Given the description of an element on the screen output the (x, y) to click on. 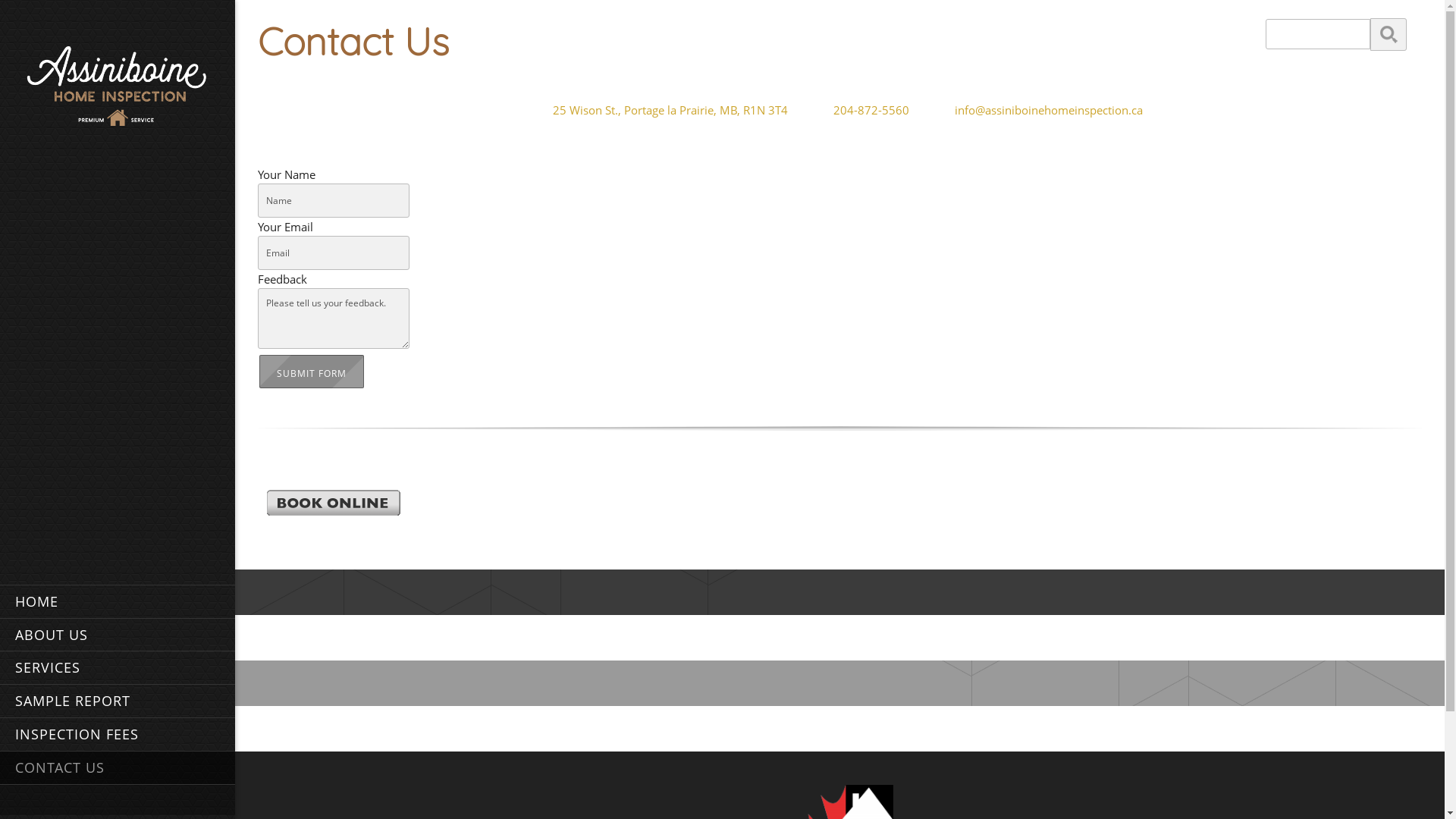
HOME Element type: text (117, 601)
204-872-5560 Element type: text (862, 109)
INSPECTION FEES Element type: text (117, 733)
SERVICES Element type: text (117, 667)
Go to site home page Element type: hover (117, 88)
ABOUT US Element type: text (117, 634)
Go to site home page Element type: hover (117, 84)
info@assiniboinehomeinspection.ca Element type: text (1040, 109)
SAMPLE REPORT Element type: text (117, 700)
25 Wison St., Portage la Prairie, MB, R1N 3T4 Element type: text (661, 109)
Search Element type: text (1388, 34)
CONTACT US Element type: text (117, 767)
SUBMIT FORM Element type: text (311, 371)
